Given the description of an element on the screen output the (x, y) to click on. 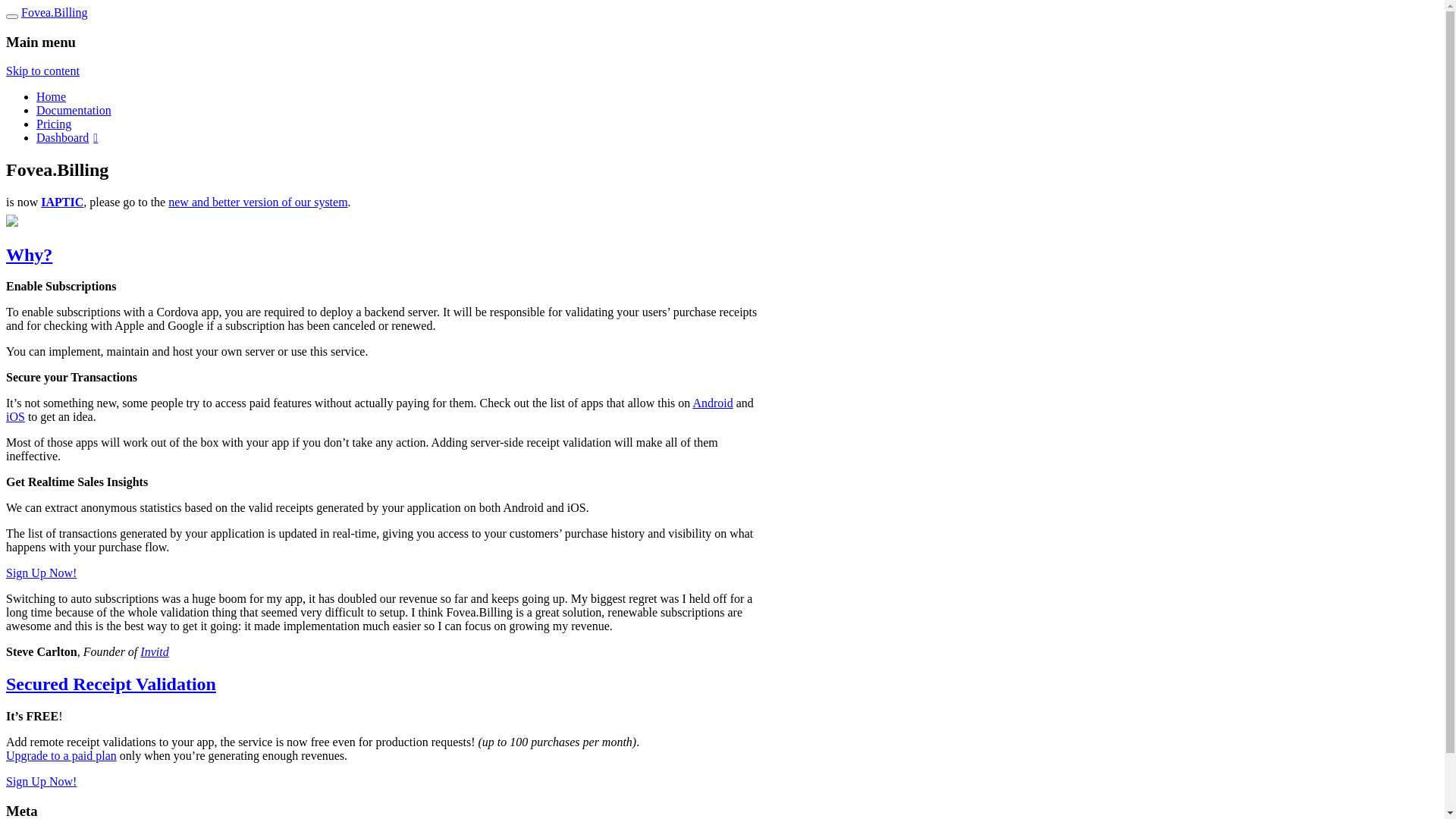
iOS Element type: text (15, 416)
Invitd Element type: text (154, 651)
Fovea.Billing Element type: text (54, 12)
Android Element type: text (712, 402)
Pricing Element type: text (53, 123)
IAPTIC Element type: text (61, 201)
Dashboard Element type: text (66, 137)
Home Element type: text (50, 96)
Sign Up Now! Element type: text (41, 572)
Sign Up Now! Element type: text (41, 781)
Documentation Element type: text (73, 109)
Upgrade to a paid plan Element type: text (61, 755)
new and better version of our system Element type: text (257, 201)
Skip to content Element type: text (42, 70)
Why? Element type: text (29, 254)
Secured Receipt Validation Element type: text (111, 683)
